Given the description of an element on the screen output the (x, y) to click on. 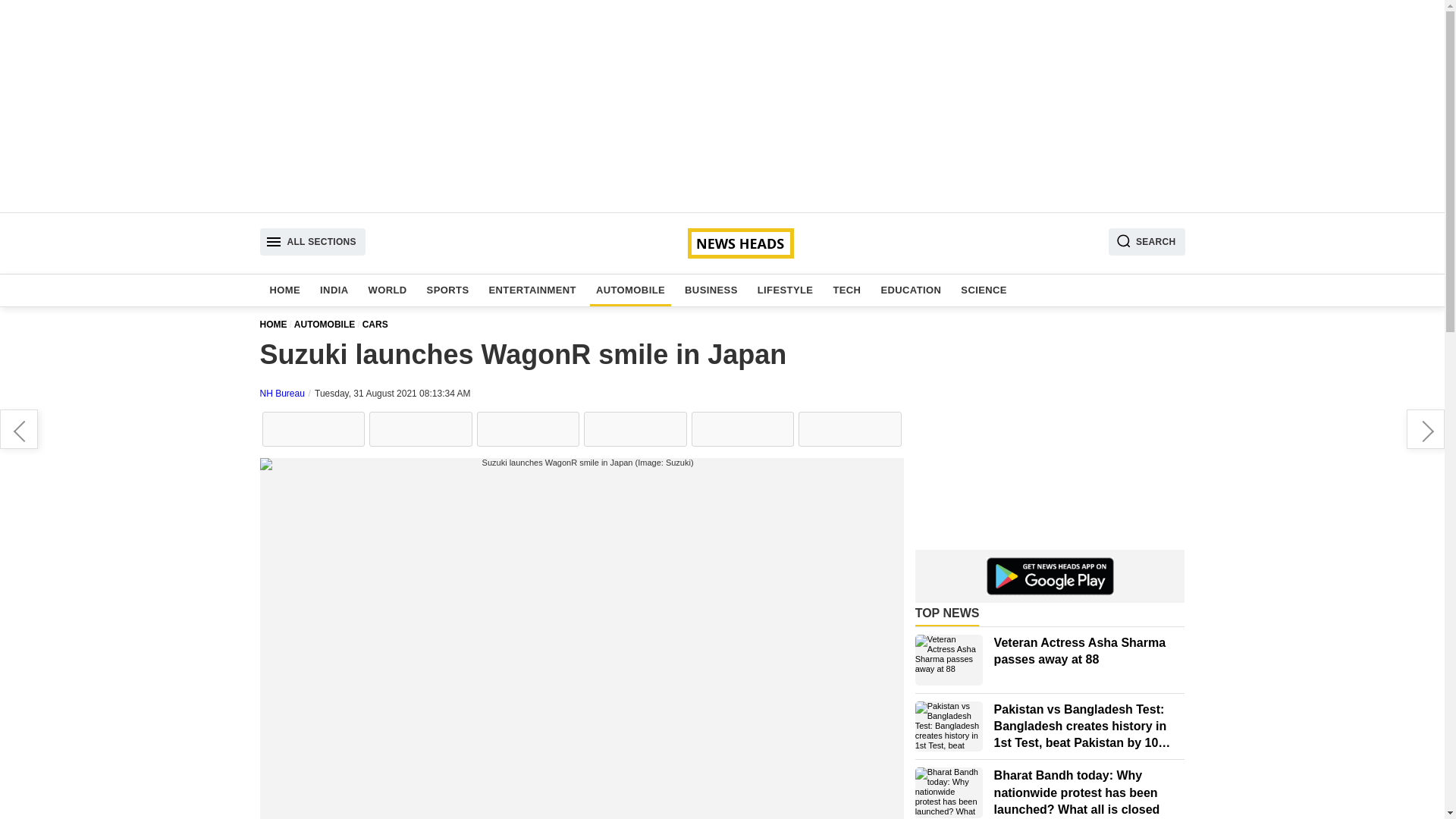
SPORTS (448, 290)
BUSINESS (711, 290)
SEARCH (1146, 241)
WORLD (387, 290)
Veteran Actress Asha Sharma passes away at 88 (948, 659)
SCIENCE (984, 290)
CARS (377, 324)
LIFESTYLE (785, 290)
AUTOMOBILE (630, 290)
